Given the description of an element on the screen output the (x, y) to click on. 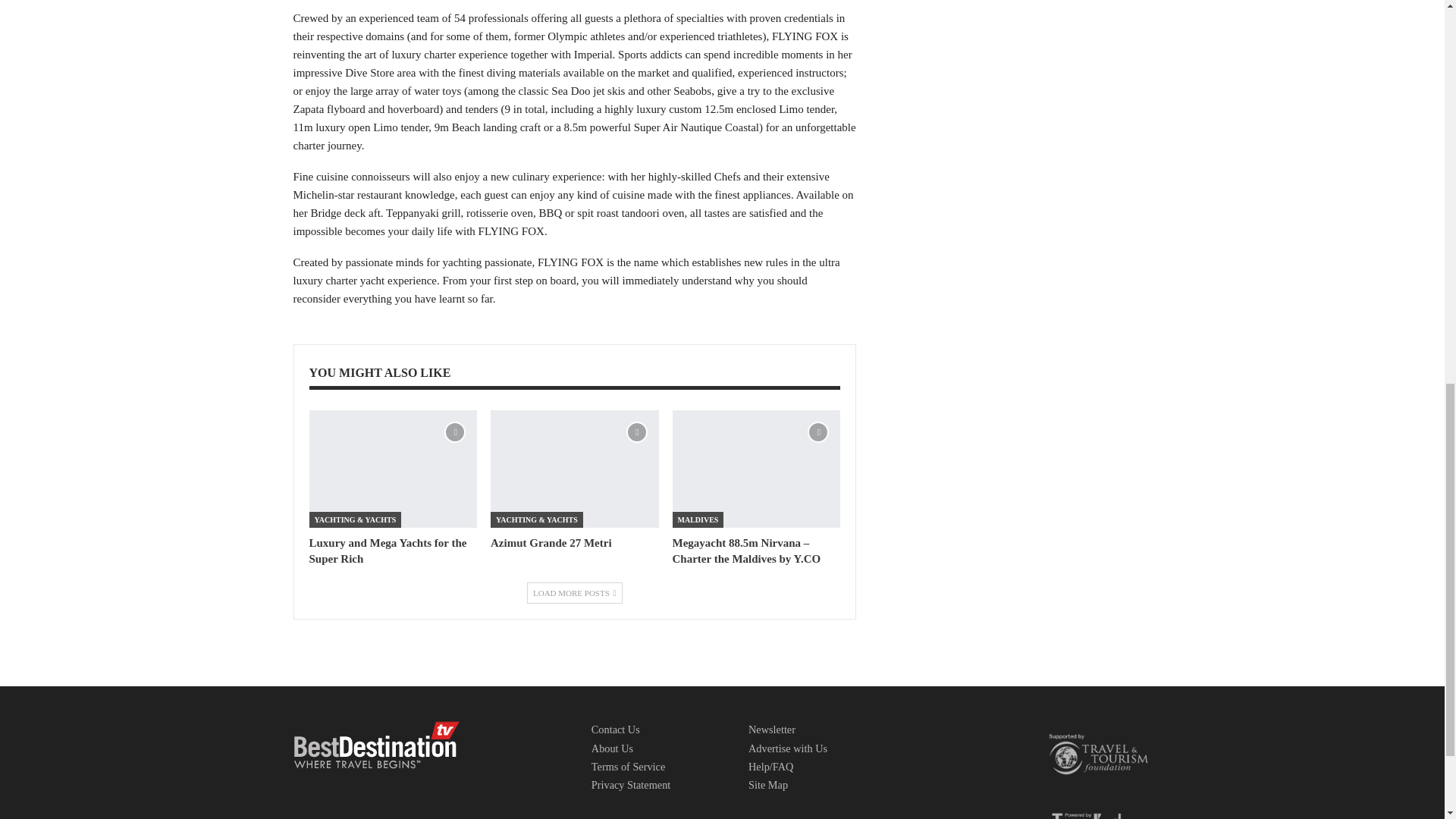
Load More Posts (575, 592)
Luxury and Mega Yachts for the Super Rich (392, 468)
Luxury and Mega Yachts for the Super Rich (387, 551)
Azimut Grande 27 Metri (574, 468)
Azimut Grande 27 Metri (550, 542)
